Given the description of an element on the screen output the (x, y) to click on. 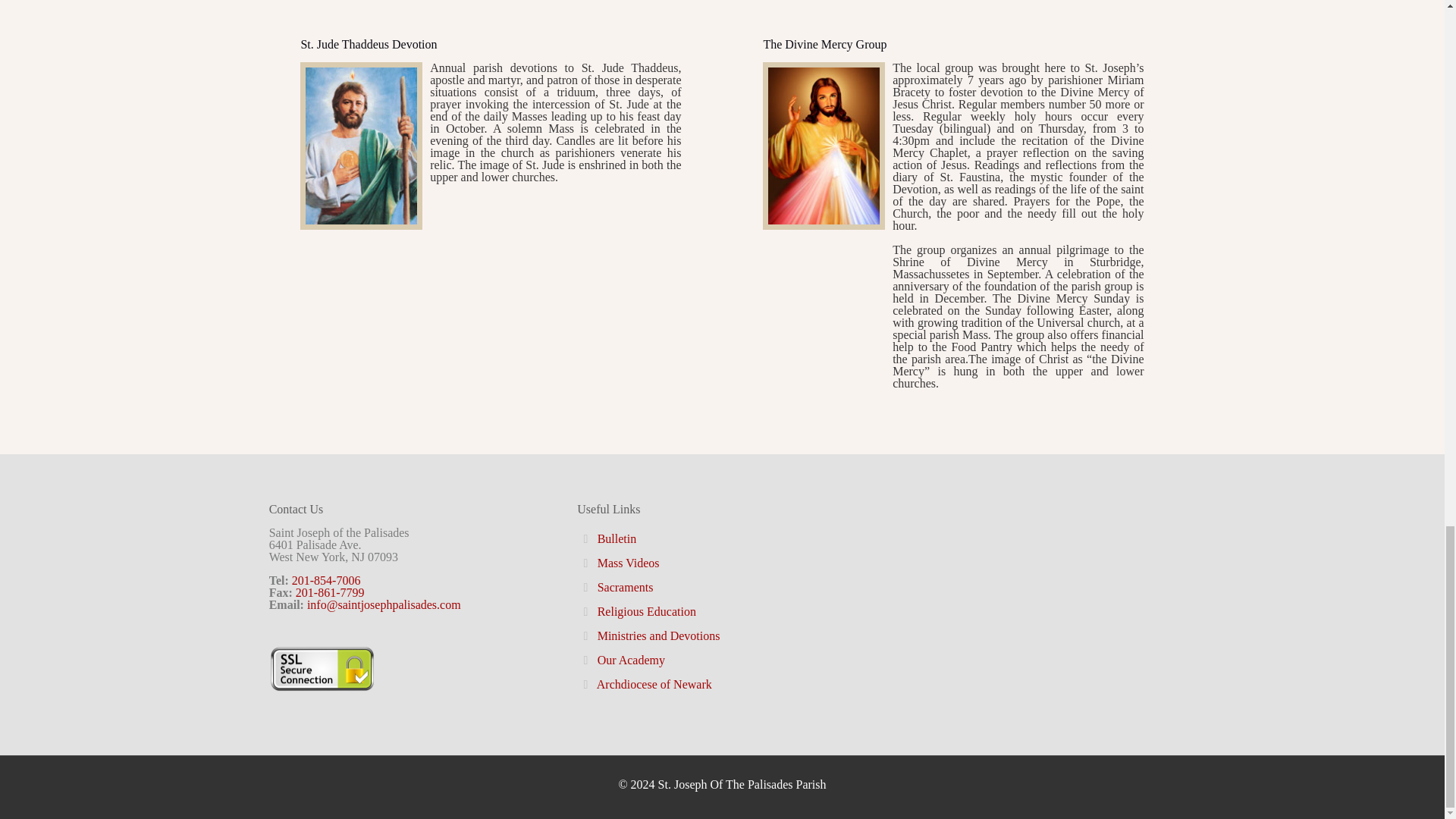
Our Academy (630, 659)
Sacraments (624, 586)
Religious Education (645, 611)
Mass Videos (627, 562)
201-854-7006 (326, 580)
Ministries and Devotions (658, 635)
201-861-7799 (330, 592)
Archdiocese of Newark (653, 684)
Bulletin (616, 538)
